Given the description of an element on the screen output the (x, y) to click on. 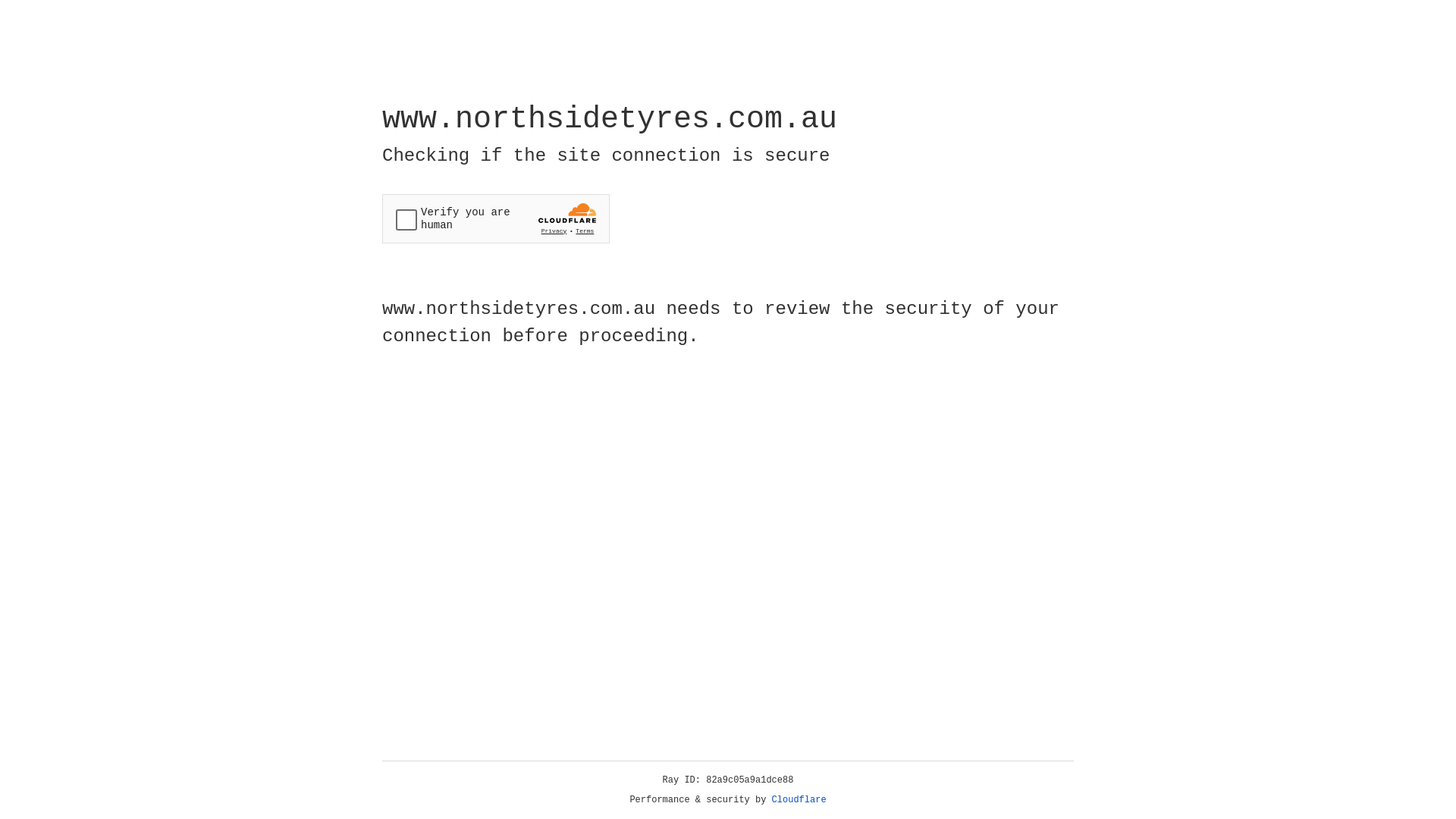
Widget containing a Cloudflare security challenge Element type: hover (495, 218)
Cloudflare Element type: text (798, 799)
